Given the description of an element on the screen output the (x, y) to click on. 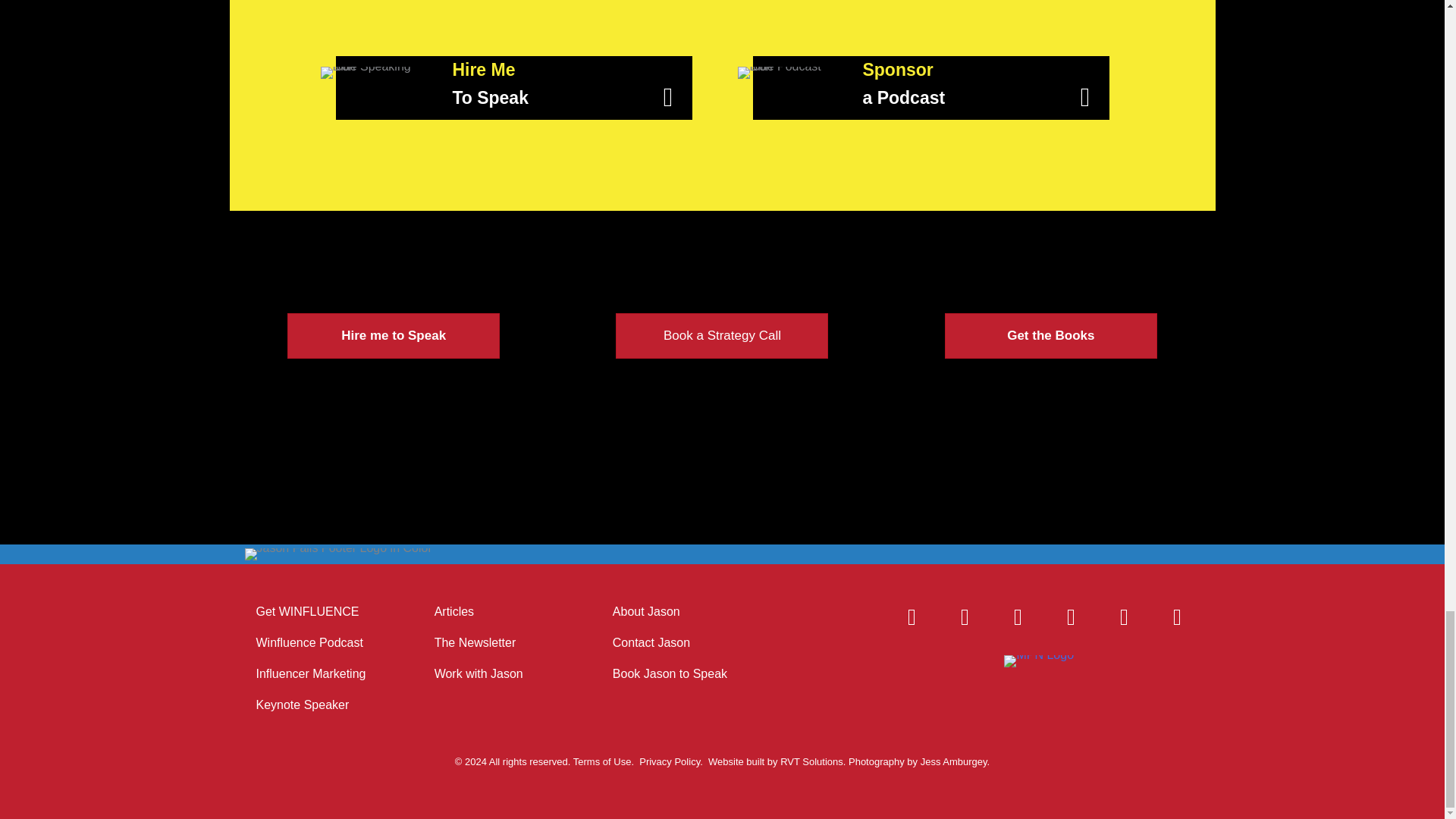
Podcast Icon (783, 80)
Book a Strategy Call (721, 335)
Hire me to Speak (392, 335)
Get the Books (1050, 335)
Articles (496, 611)
Keynote Speaker (318, 705)
Speaking Icon (371, 80)
Winfluence Podcast (318, 642)
Influencer Marketing (318, 673)
Get WINFLUENCE (318, 611)
